Given the description of an element on the screen output the (x, y) to click on. 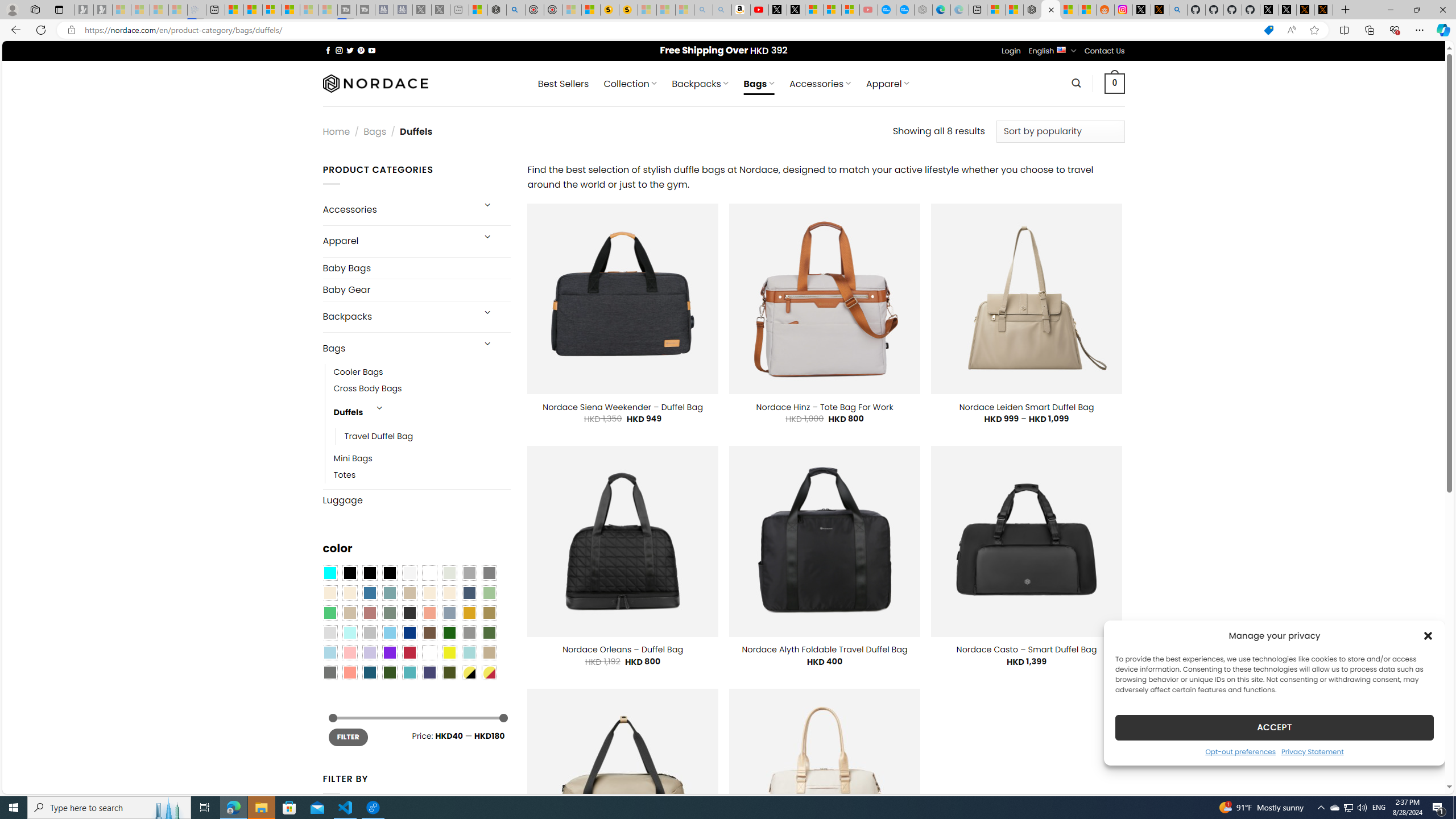
Backpacks (397, 316)
Teal (408, 672)
Yellow-Black (468, 672)
Luggage (416, 499)
Nordace - Duffels (1050, 9)
White (429, 652)
Pearly White (408, 572)
Forest (389, 672)
ACCEPT (1274, 727)
